Given the description of an element on the screen output the (x, y) to click on. 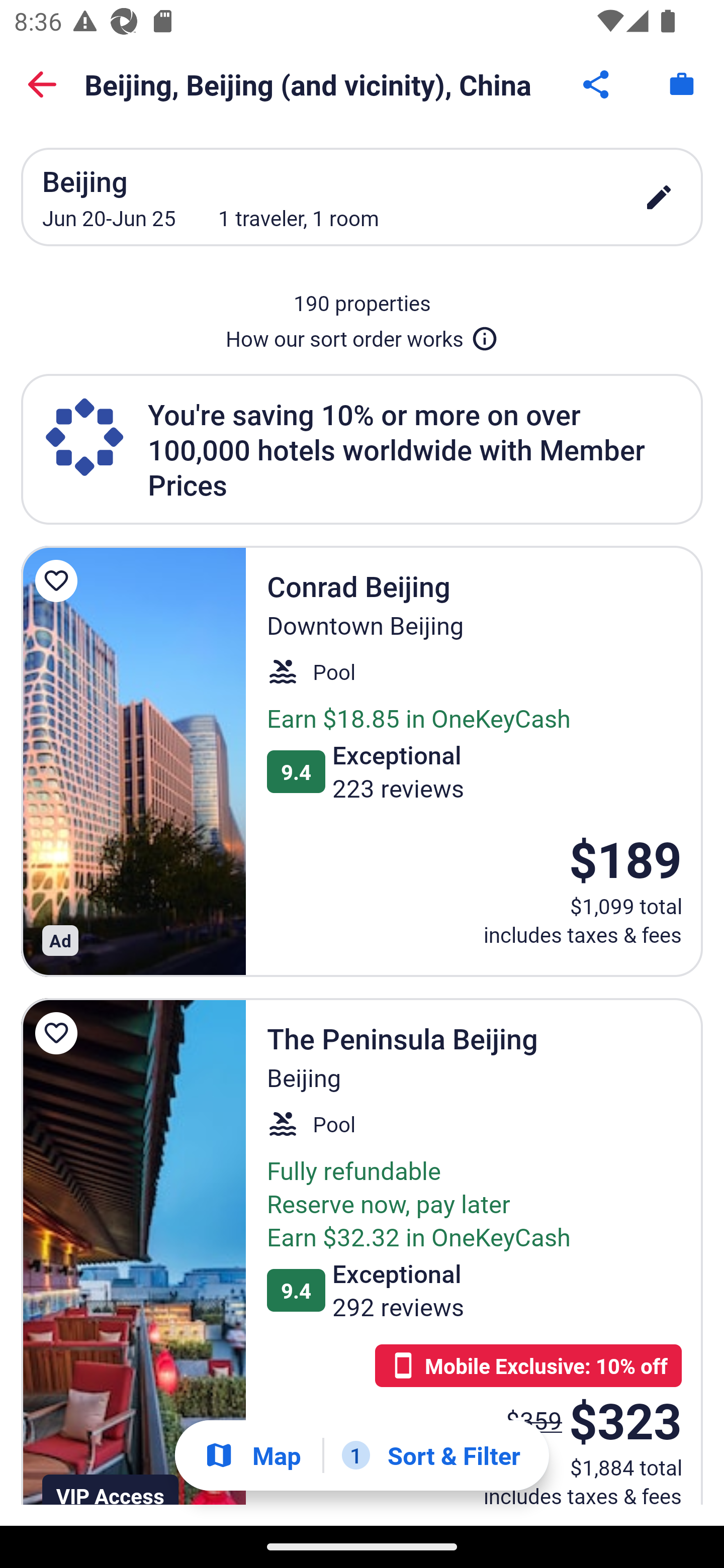
Back (42, 84)
Share Button (597, 84)
Trips. Button (681, 84)
Beijing Jun 20-Jun 25 1 traveler, 1 room edit (361, 196)
How our sort order works (361, 334)
Save Conrad Beijing to a trip (59, 580)
Conrad Beijing (133, 760)
Save The Peninsula Beijing to a trip (59, 1032)
The Peninsula Beijing (133, 1251)
1 Sort & Filter 1 Filter applied. Filters Button (430, 1455)
Show map Map Show map Button (252, 1455)
